Given the description of an element on the screen output the (x, y) to click on. 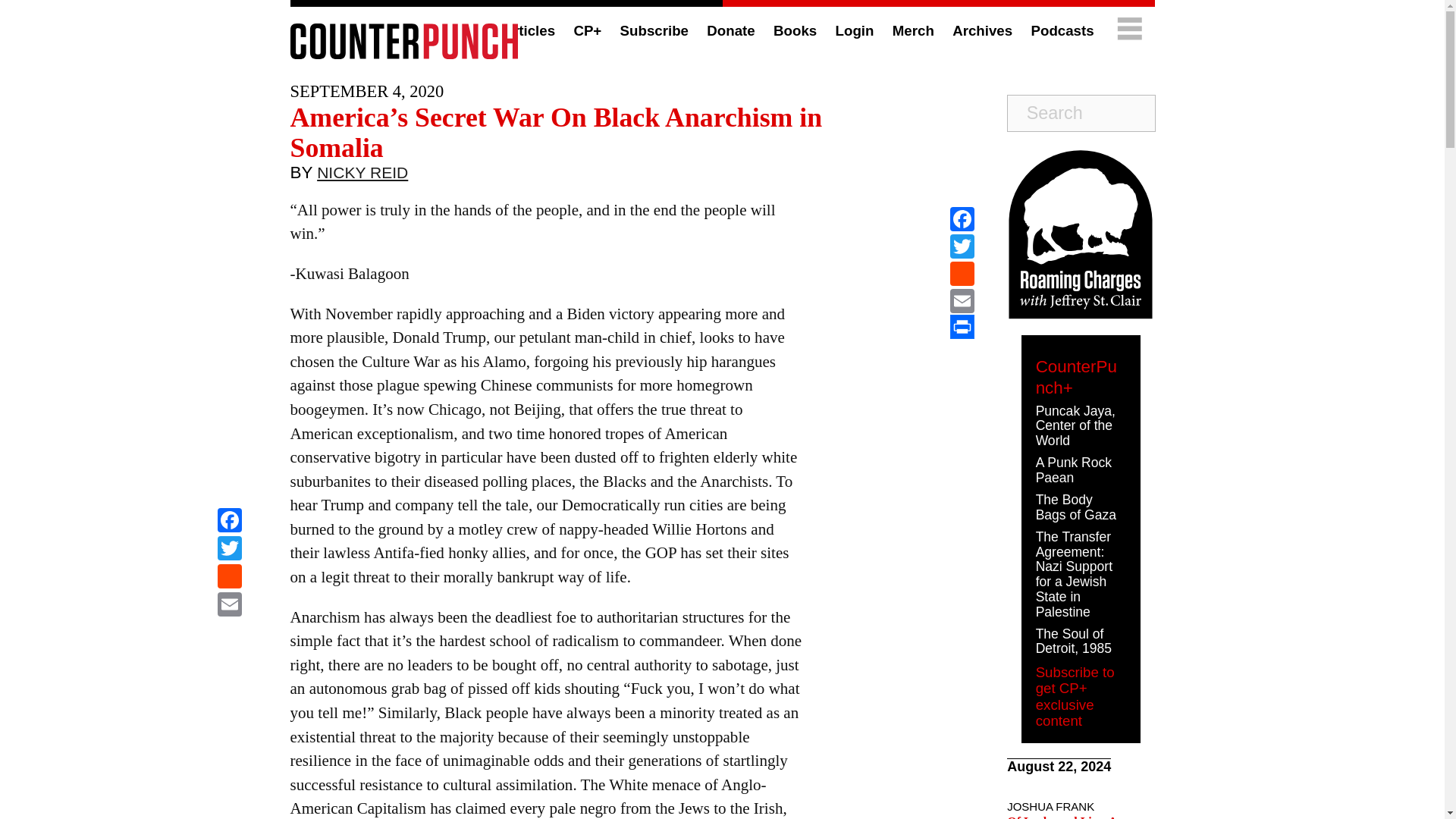
Reddit (229, 578)
2020-09-04 (366, 90)
Email (229, 605)
Login (855, 30)
Twitter (962, 246)
Reddit (962, 273)
Archives (981, 30)
Email (229, 605)
Facebook (229, 521)
Articles (528, 30)
